Given the description of an element on the screen output the (x, y) to click on. 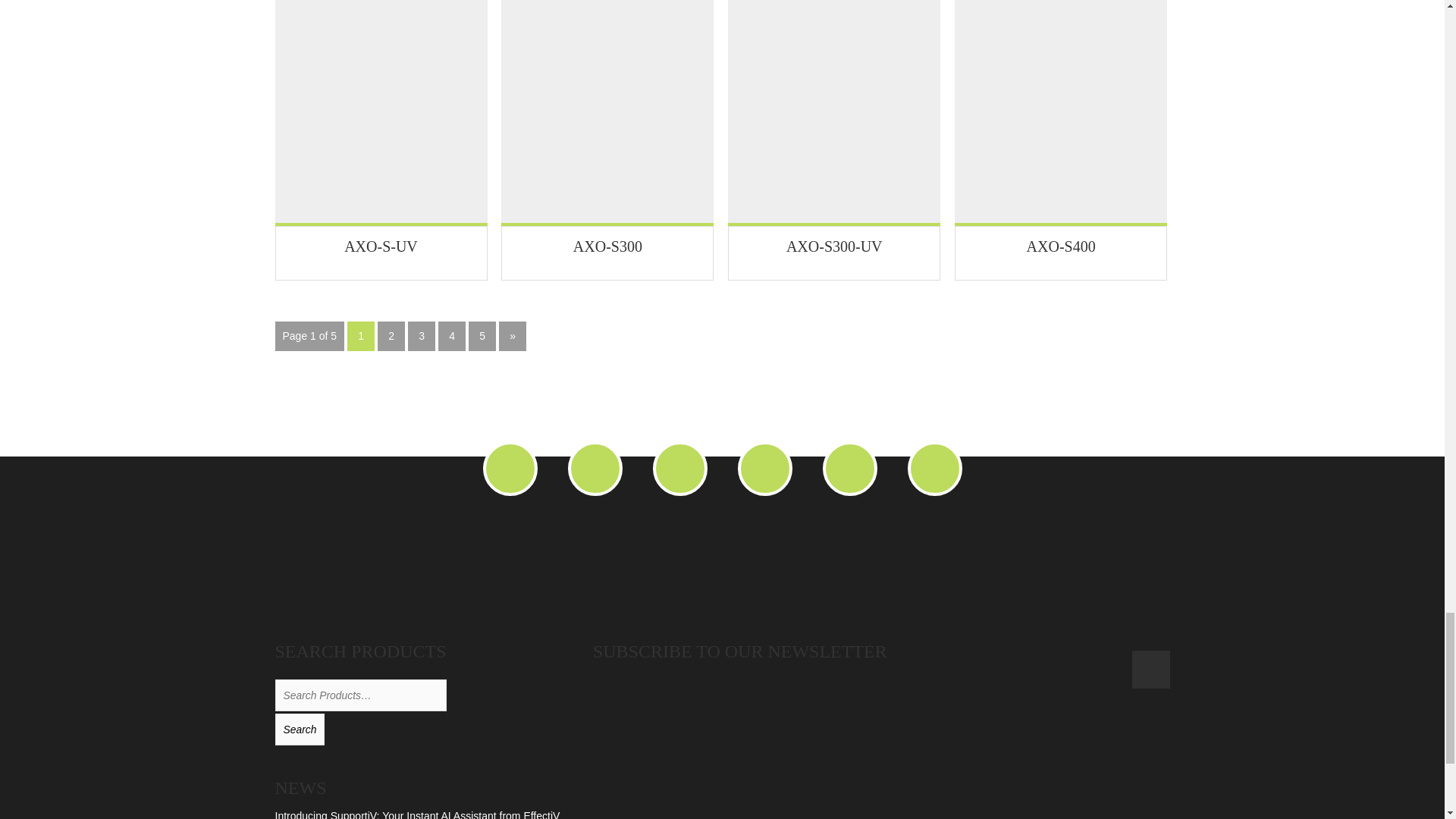
4 (451, 336)
YouTube (509, 468)
Facebook (679, 468)
Search (299, 729)
2 (390, 336)
3 (421, 336)
Instagram (933, 468)
Pinterest (849, 468)
5 (482, 336)
Linkedin (594, 468)
